Given the description of an element on the screen output the (x, y) to click on. 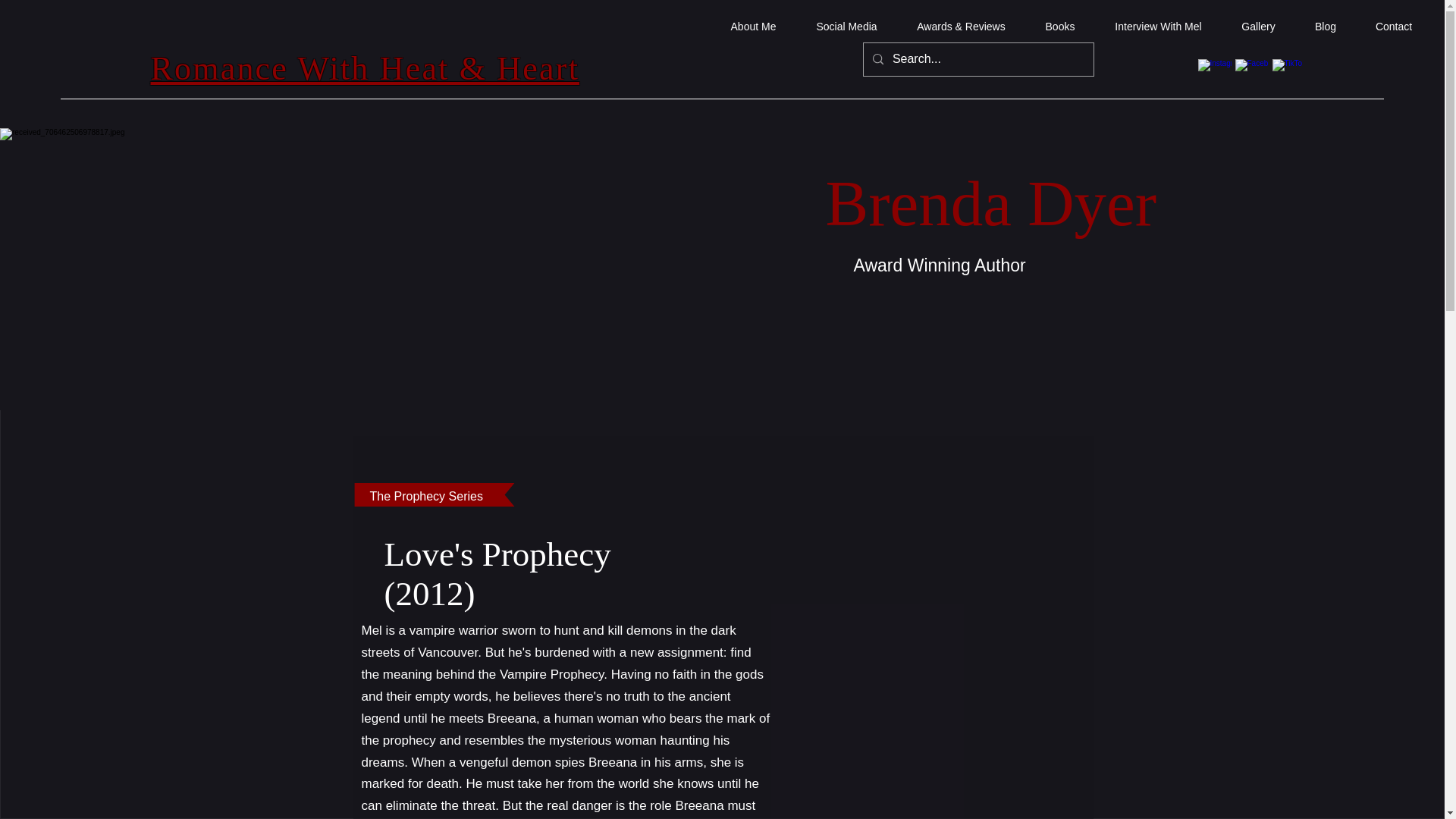
Blog (1325, 26)
Gallery (1258, 26)
About Me (753, 26)
Books (1059, 26)
Social Media (846, 26)
Contact (1393, 26)
Interview With Mel (1157, 26)
